Given the description of an element on the screen output the (x, y) to click on. 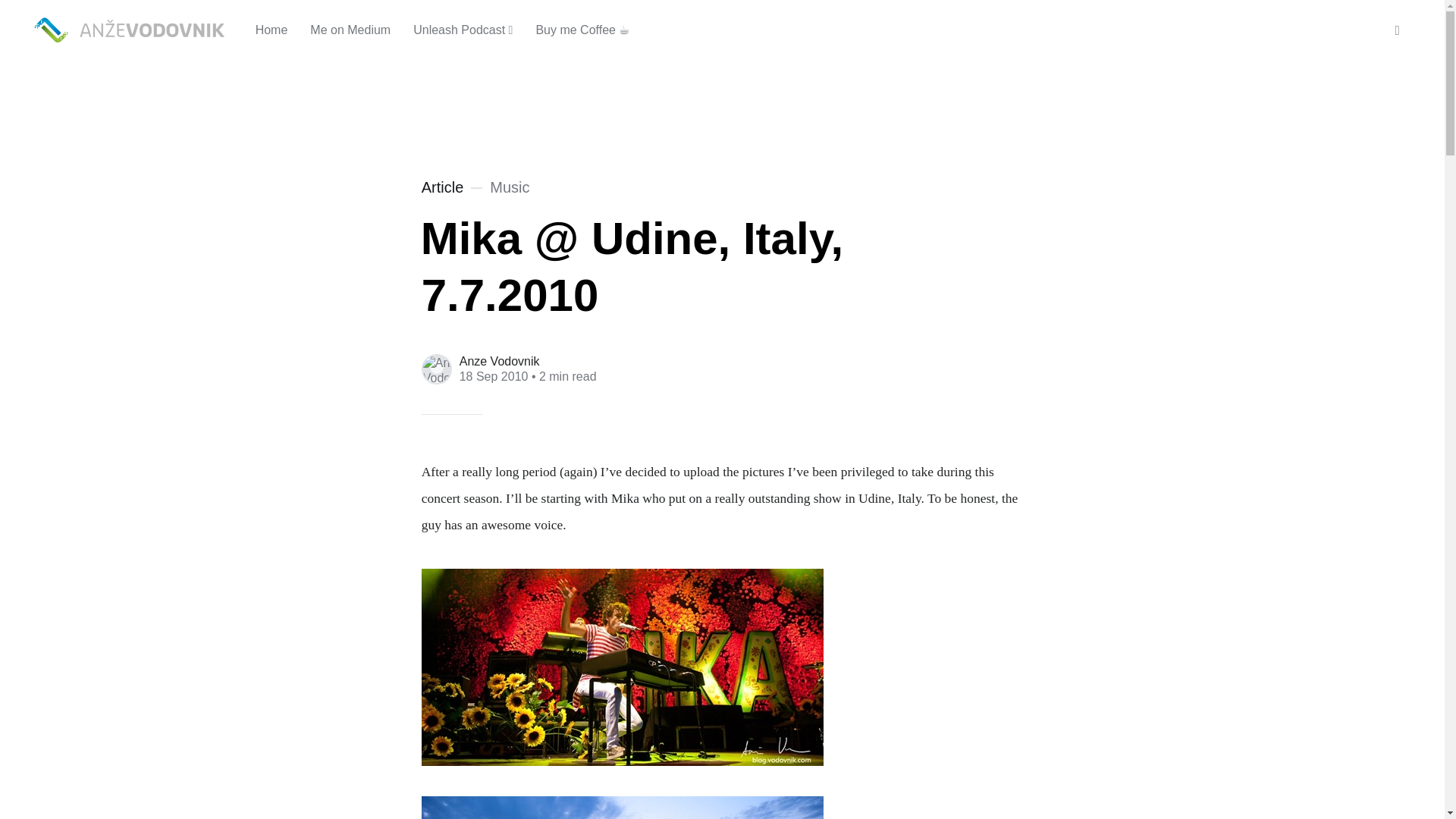
Home (131, 30)
Home (272, 30)
Anze Vodovnik (500, 361)
Me on Medium (350, 30)
